Given the description of an element on the screen output the (x, y) to click on. 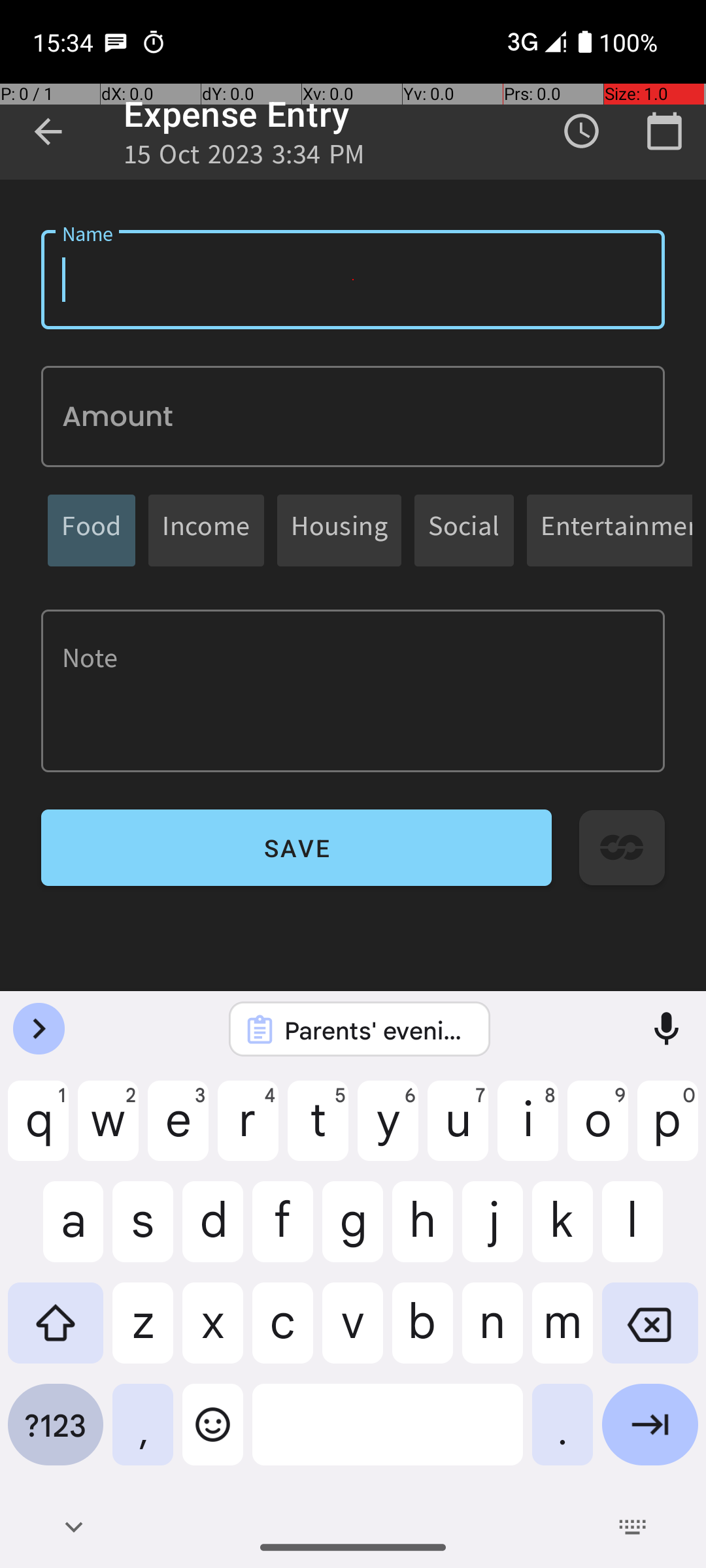
Parents' evening at school this Wednesday. Element type: android.widget.TextView (376, 1029)
